Given the description of an element on the screen output the (x, y) to click on. 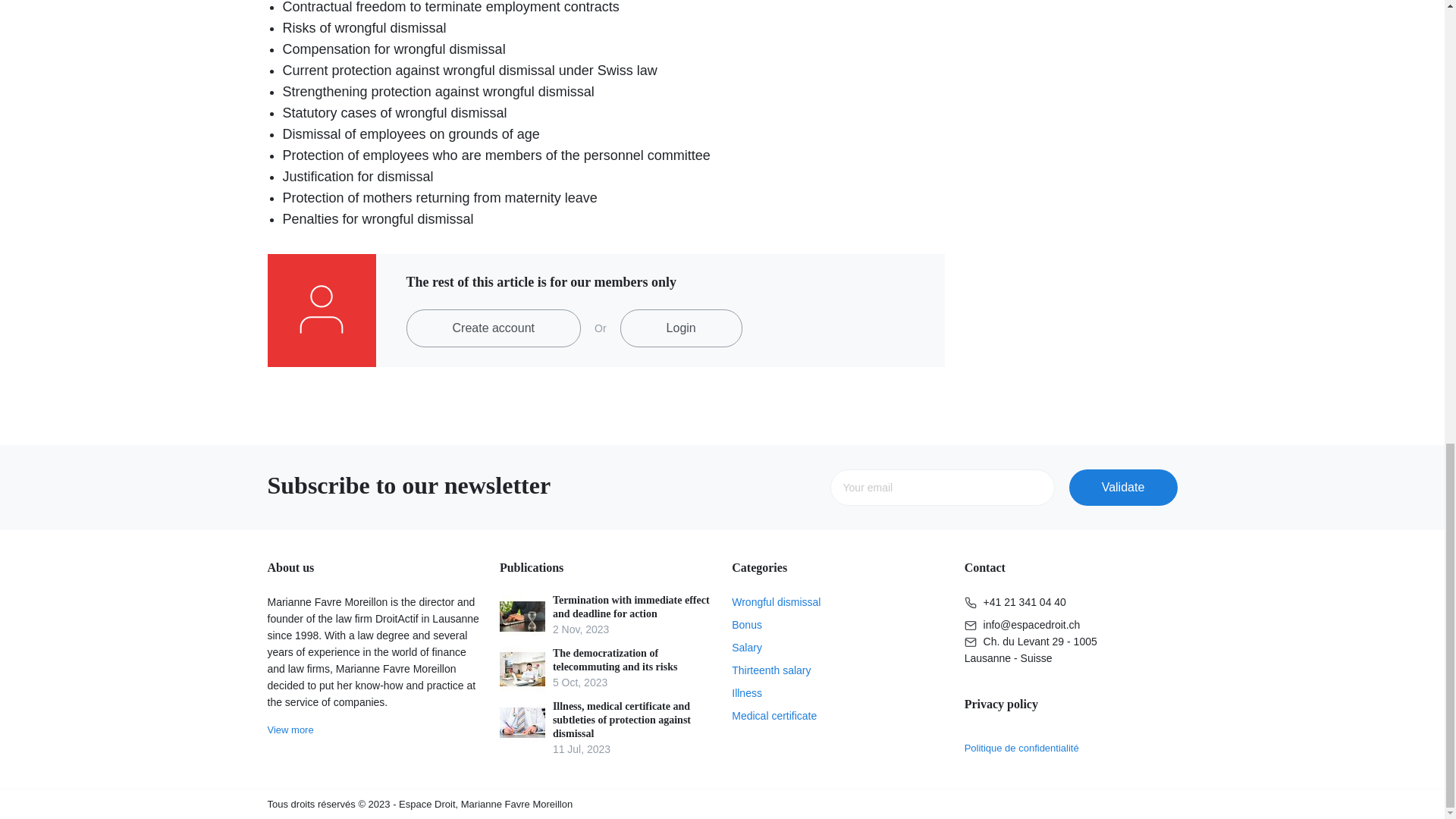
Your email (941, 487)
Go (1122, 487)
